Given the description of an element on the screen output the (x, y) to click on. 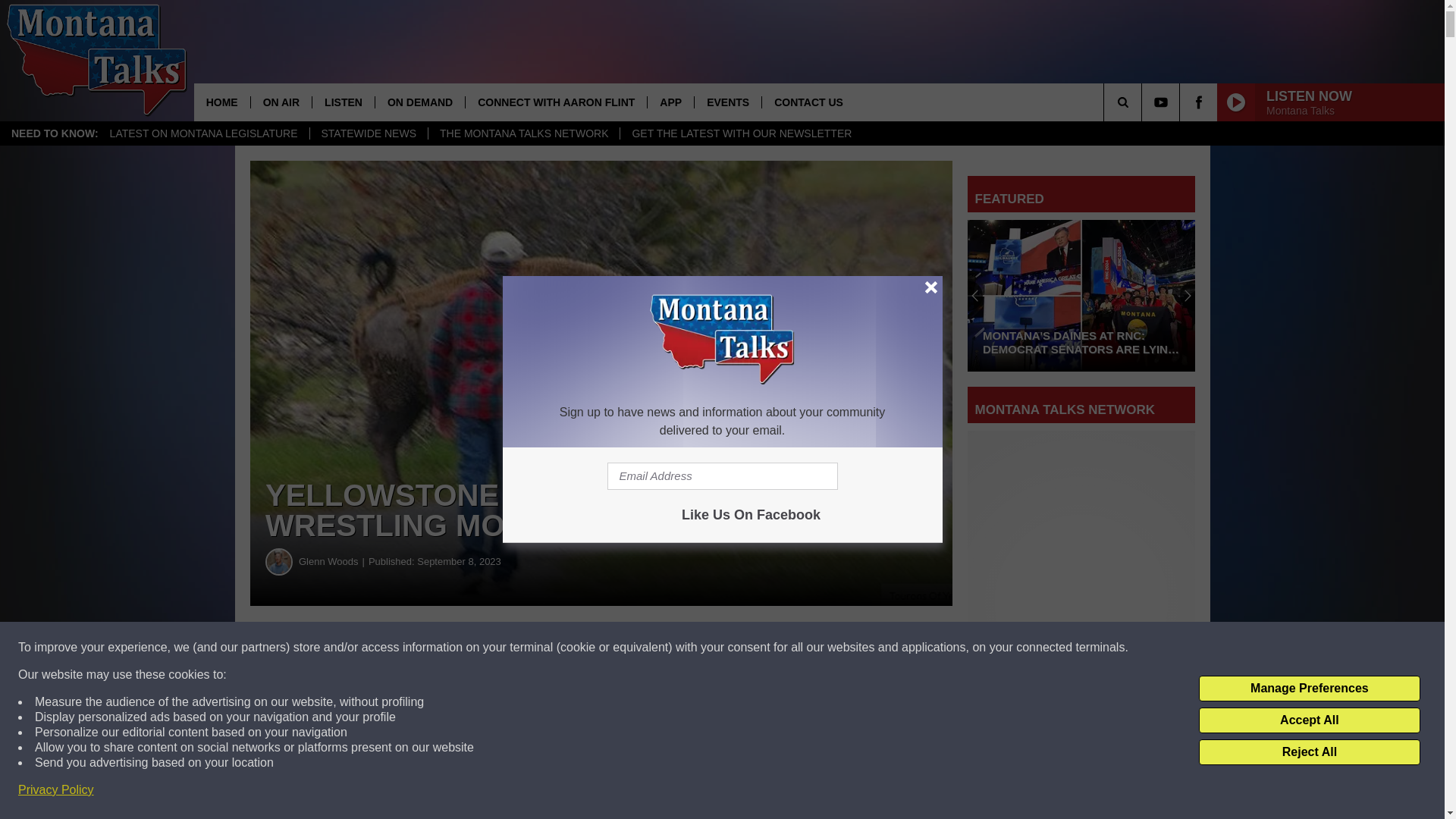
GET THE LATEST WITH OUR NEWSLETTER (741, 133)
EVENTS (727, 102)
Accept All (1309, 720)
Email Address (722, 475)
SEARCH (1144, 102)
LATEST ON MONTANA LEGISLATURE (203, 133)
CONTACT US (808, 102)
APP (670, 102)
HOME (221, 102)
Share on Facebook (460, 647)
Manage Preferences (1309, 688)
Reject All (1309, 751)
STATEWIDE NEWS (368, 133)
CONNECT WITH AARON FLINT (555, 102)
SEARCH (1144, 102)
